Given the description of an element on the screen output the (x, y) to click on. 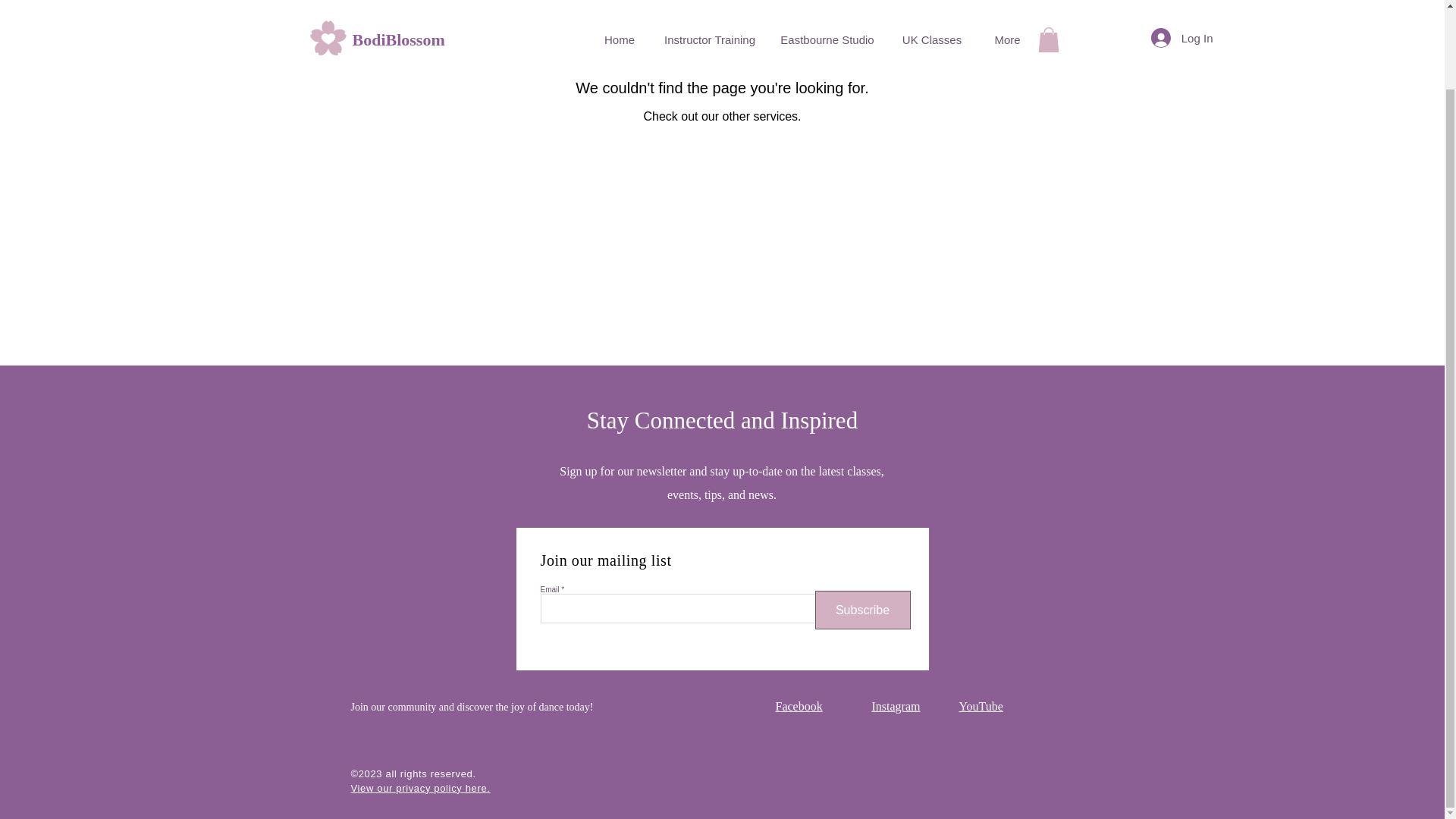
View our privacy policy here. (419, 787)
Instagram (896, 706)
YouTube (980, 706)
Facebook (798, 706)
Subscribe (861, 609)
